Given the description of an element on the screen output the (x, y) to click on. 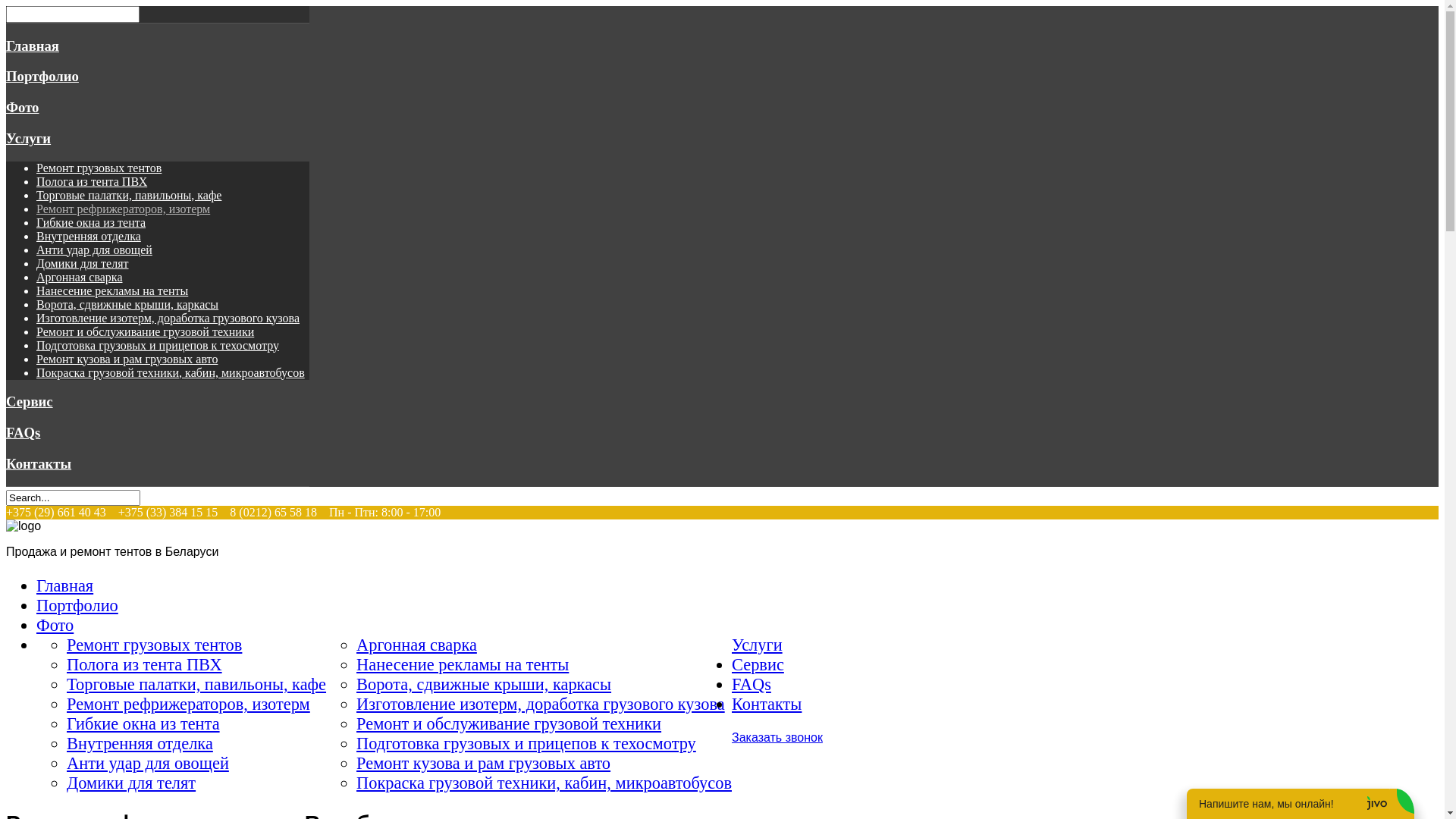
FAQs Element type: text (23, 432)
FAQs Element type: text (751, 683)
